Given the description of an element on the screen output the (x, y) to click on. 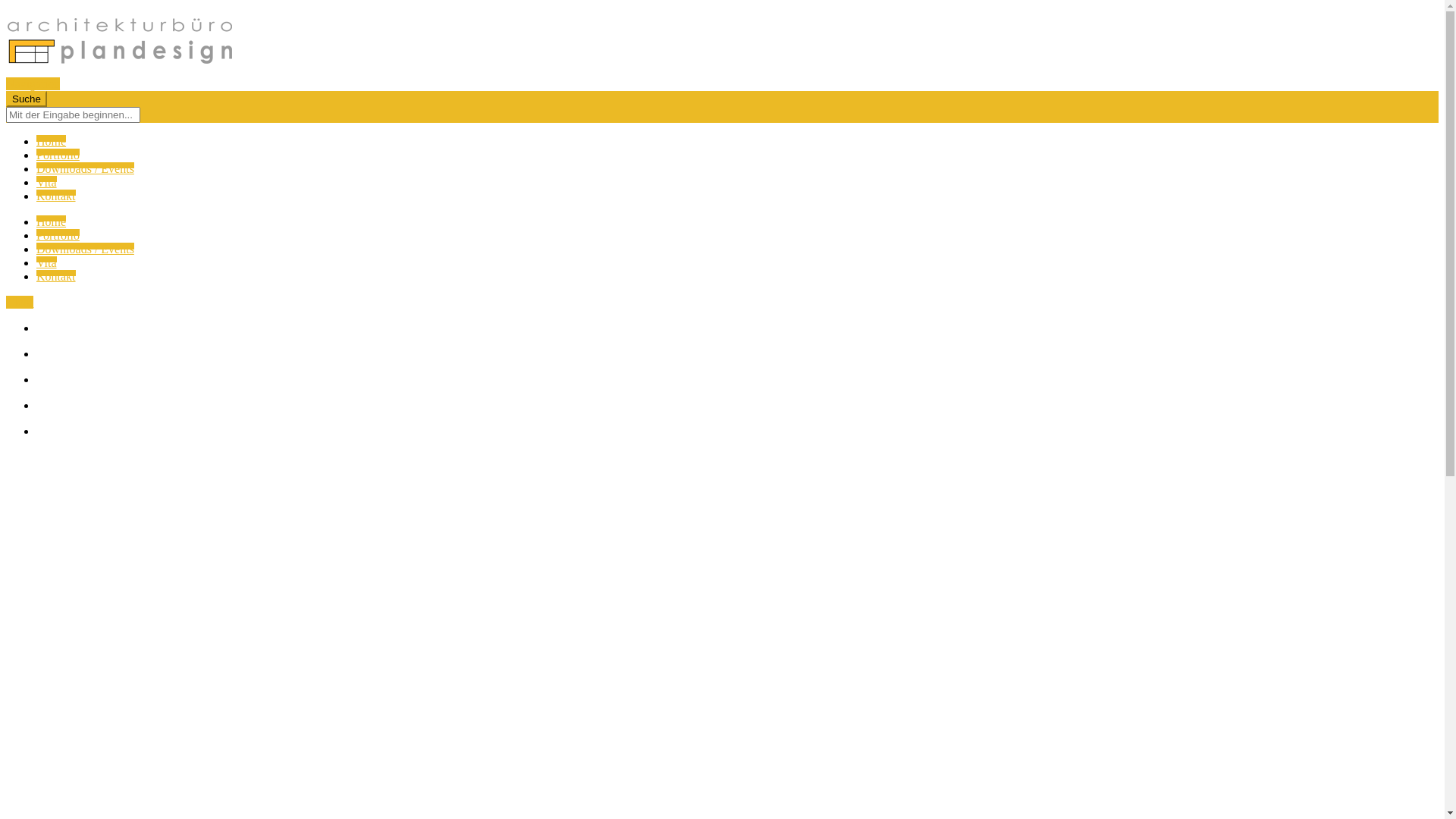
Navigation Element type: text (32, 83)
Vita Element type: text (46, 181)
Vita Element type: text (46, 262)
Kontakt Element type: text (55, 195)
Home Element type: text (50, 140)
Downloads / Events Element type: text (85, 168)
Home Element type: text (50, 221)
Close Element type: text (19, 301)
Portfolio Element type: text (57, 235)
Downloads / Events Element type: text (85, 248)
Kontakt Element type: text (55, 275)
Portfolio Element type: text (57, 154)
Suche Element type: text (26, 98)
